Given the description of an element on the screen output the (x, y) to click on. 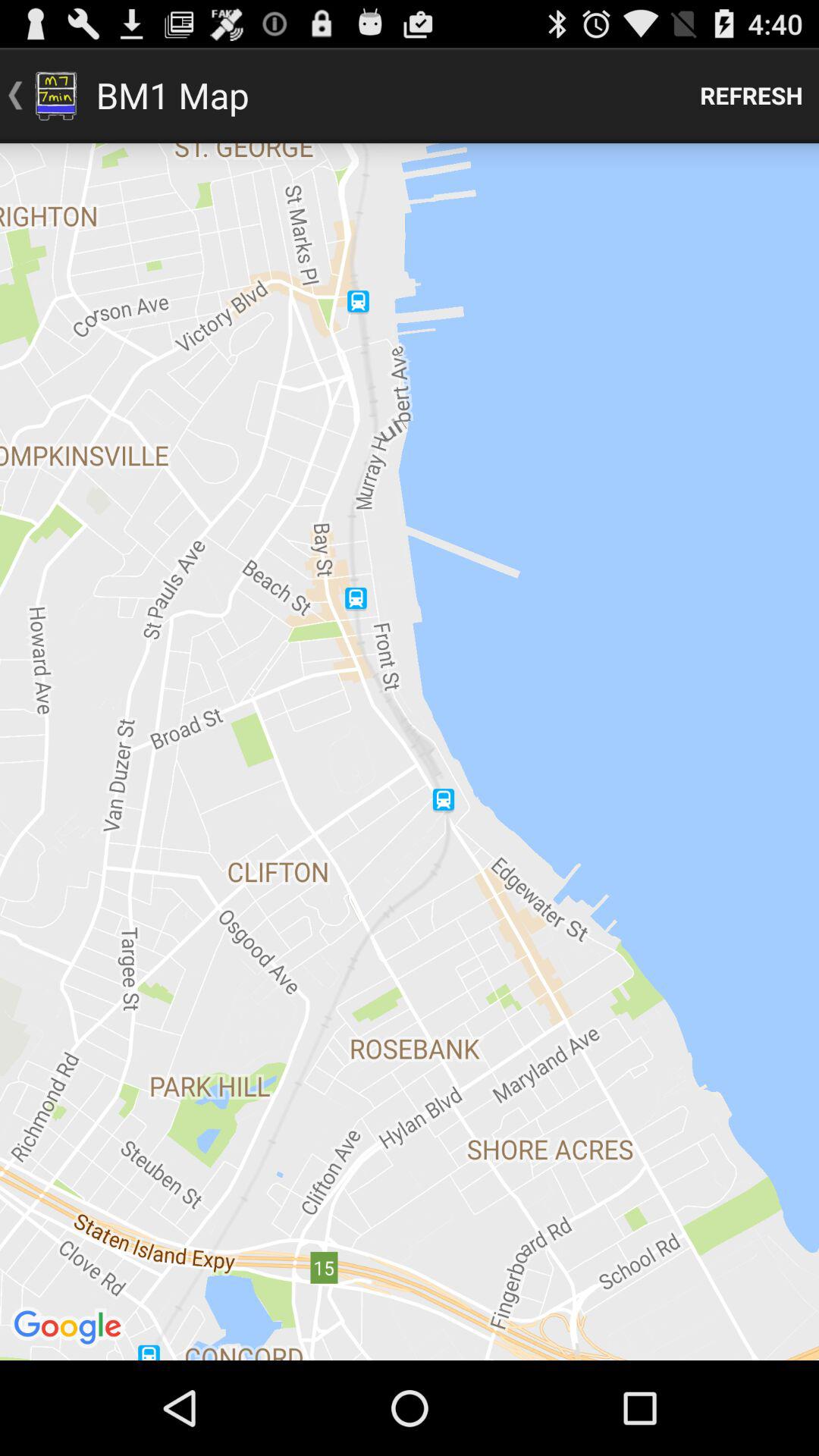
select the item to the right of bm1 map item (751, 95)
